Given the description of an element on the screen output the (x, y) to click on. 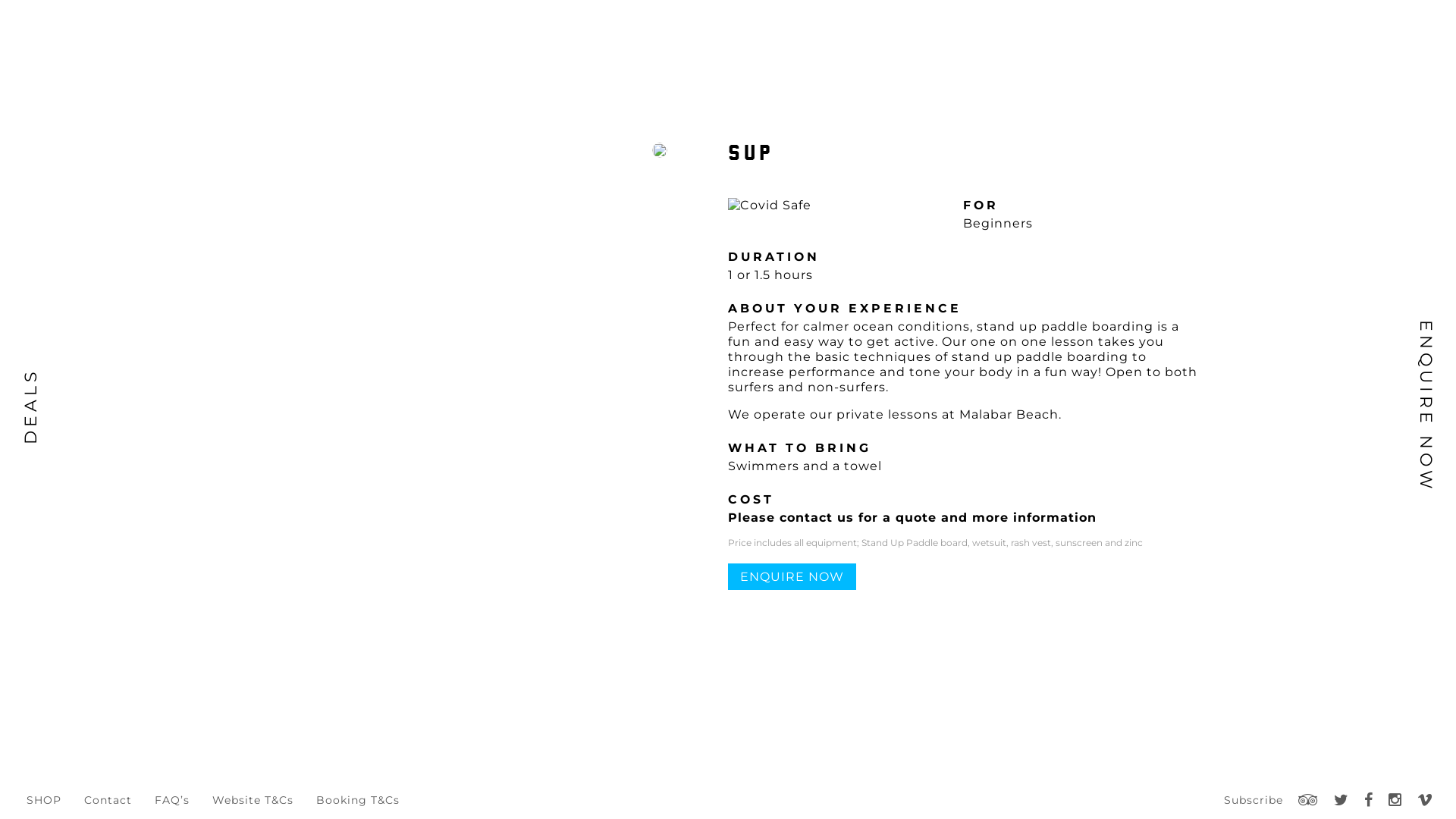
DEALS Element type: text (56, 379)
Open Menu Element type: text (1417, 29)
ENQUIRE NOW Element type: text (792, 576)
